Given the description of an element on the screen output the (x, y) to click on. 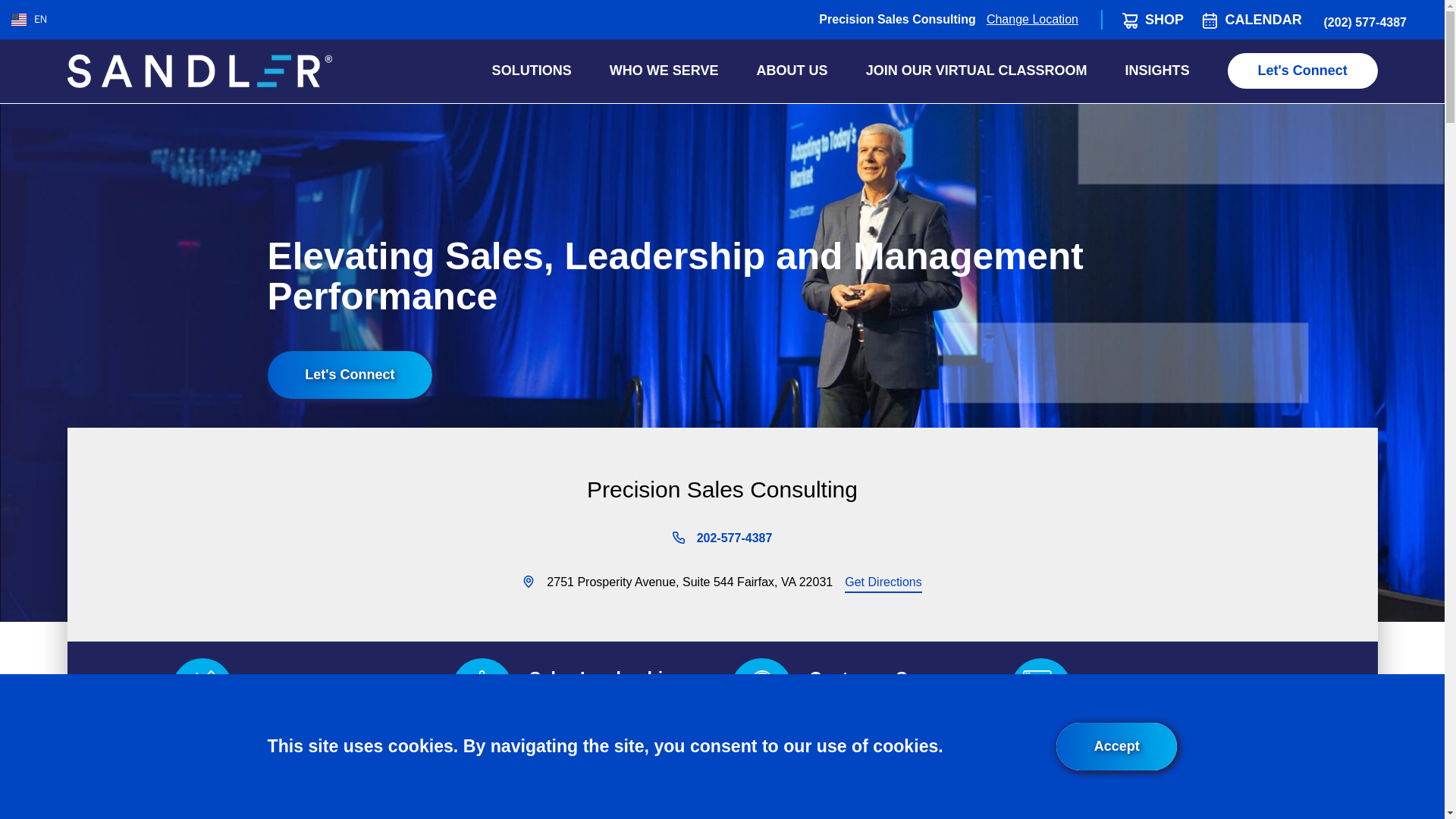
Home (198, 70)
Change Location (1032, 18)
CALENDAR (1263, 19)
WHO WE SERVE (664, 70)
SHOP (1163, 19)
SOLUTIONS (532, 70)
EN (28, 18)
